Given the description of an element on the screen output the (x, y) to click on. 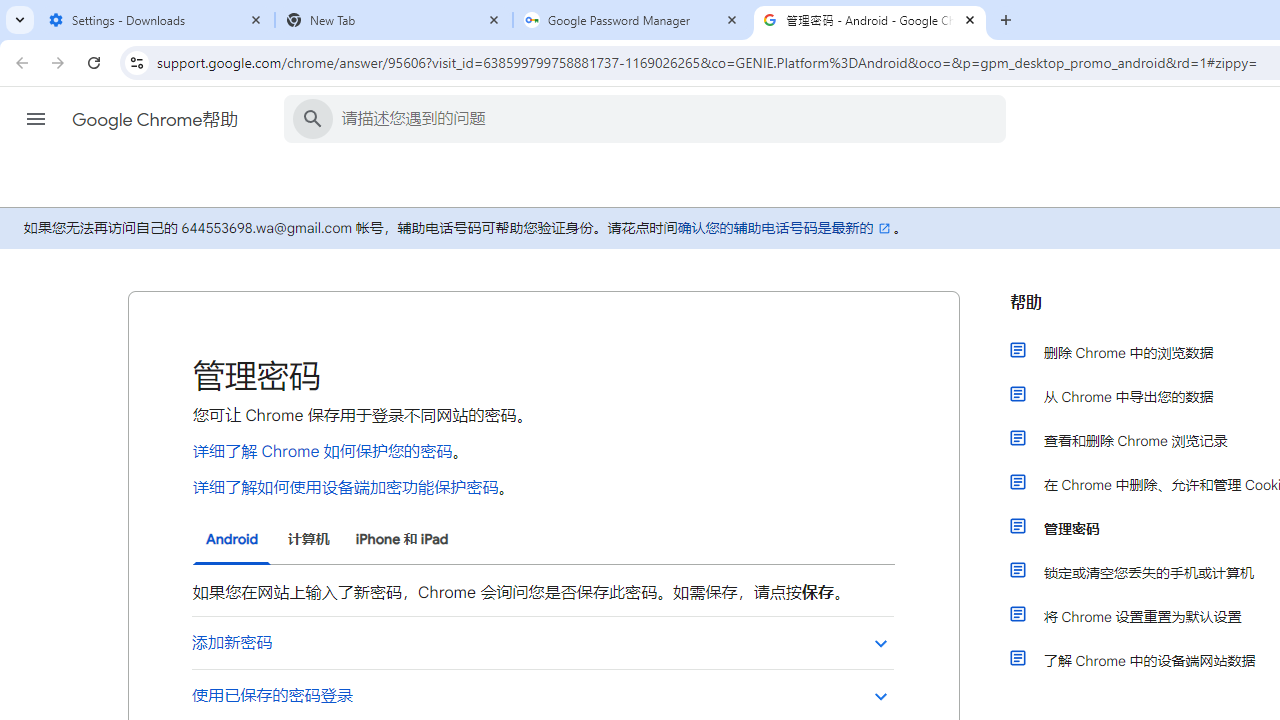
New Tab (394, 20)
Settings - Downloads (156, 20)
